Given the description of an element on the screen output the (x, y) to click on. 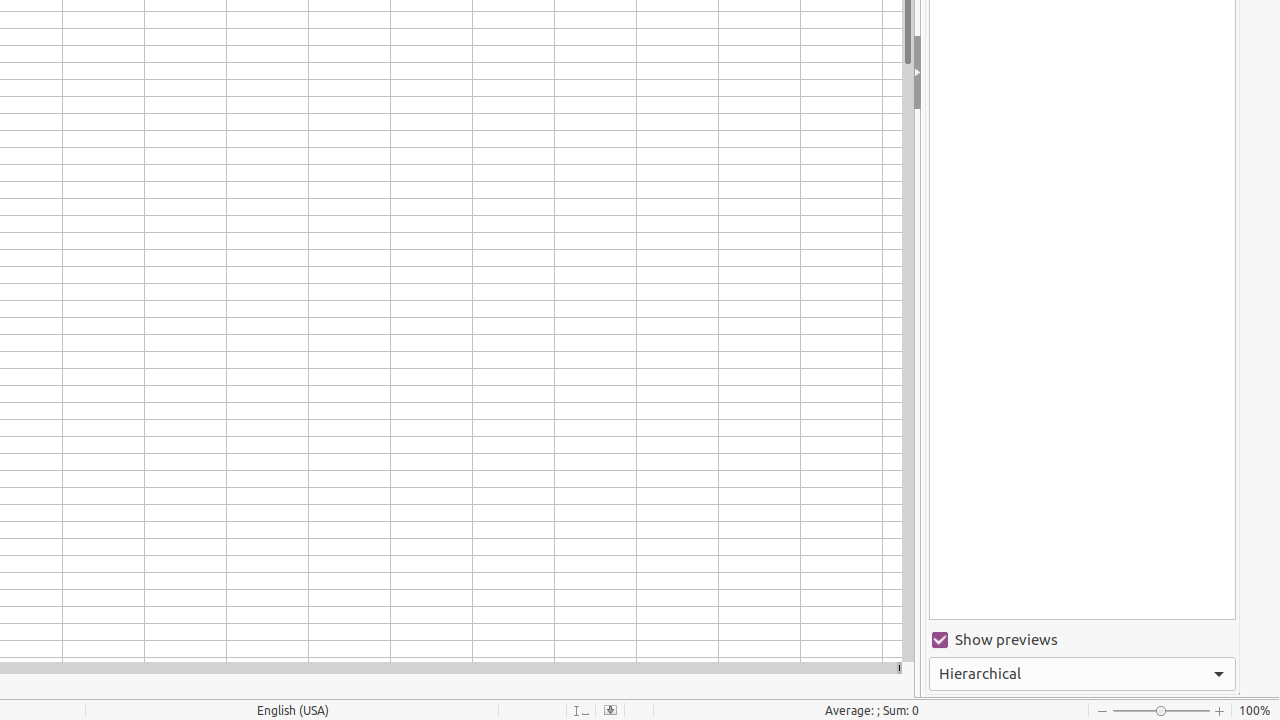
Show previews Element type: check-box (1082, 640)
